Given the description of an element on the screen output the (x, y) to click on. 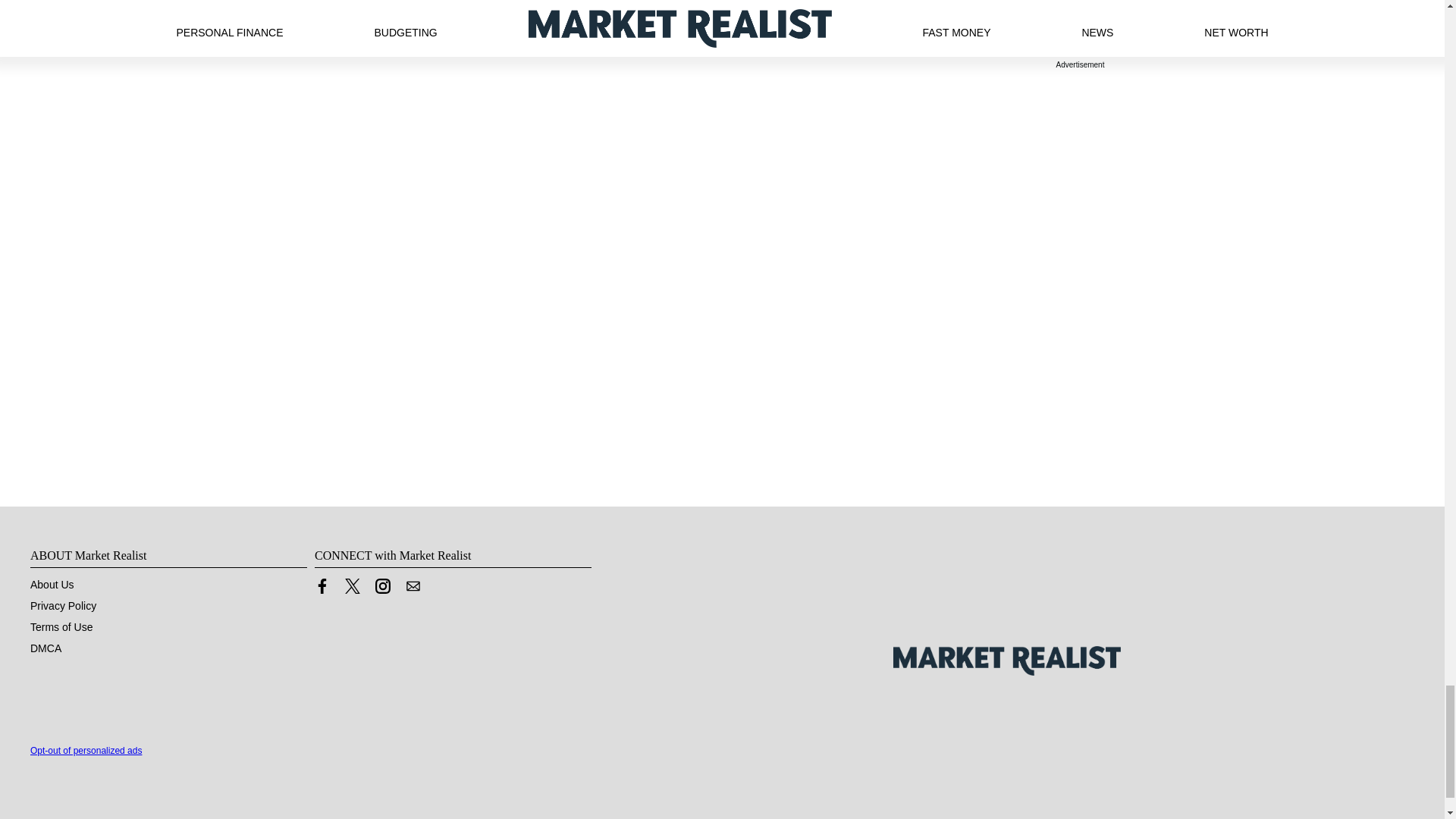
DMCA (45, 648)
Link to Facebook (322, 589)
Privacy Policy (63, 605)
Terms of Use (61, 626)
Contact us by Email (413, 589)
About Us (52, 584)
Link to Facebook (322, 585)
Link to Instagram (382, 589)
About Us (52, 584)
Link to X (352, 589)
DMCA (45, 648)
Terms of Use (61, 626)
Link to Instagram (382, 585)
Opt-out of personalized ads (85, 750)
Contact us by Email (413, 585)
